Given the description of an element on the screen output the (x, y) to click on. 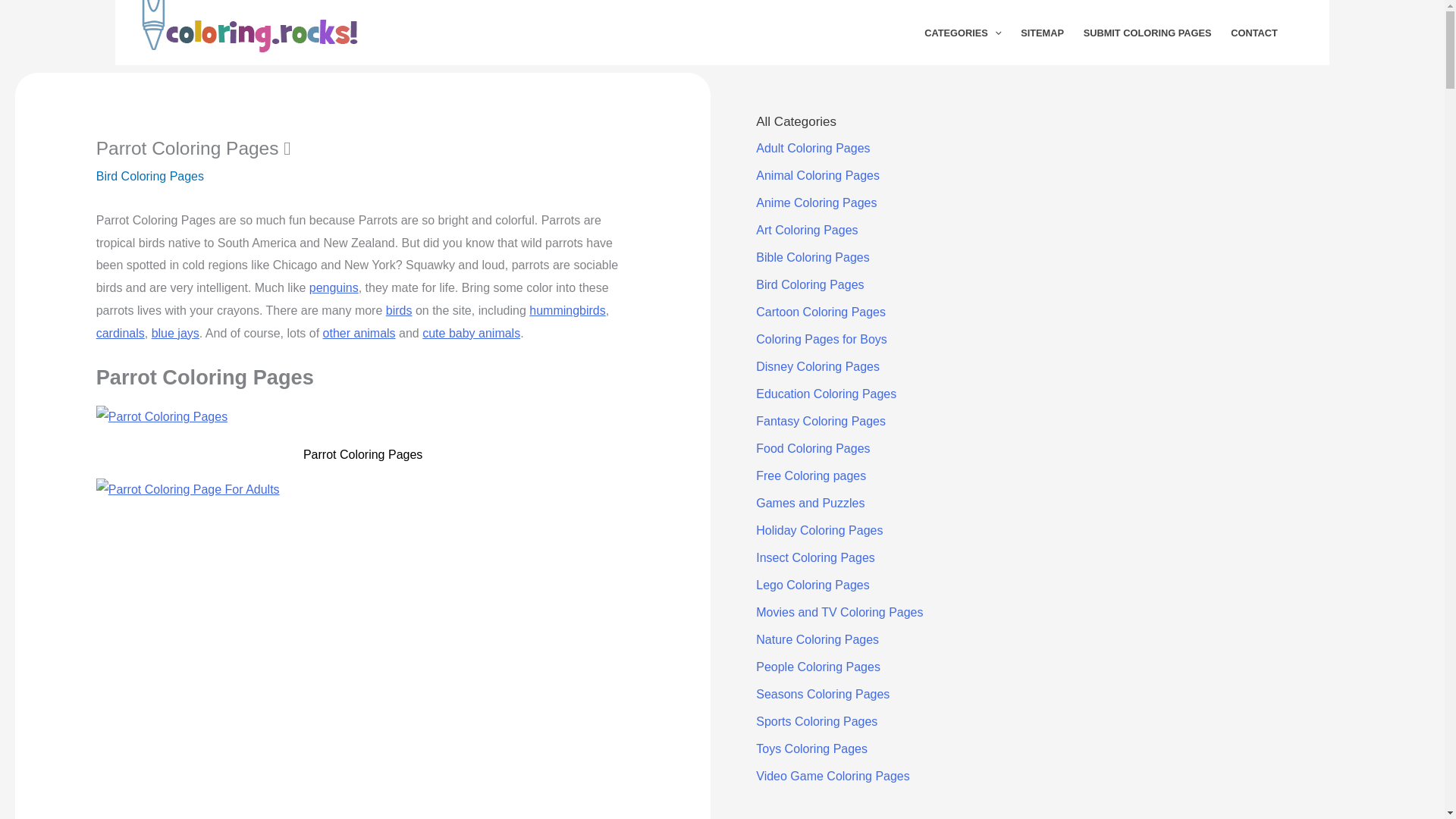
CATEGORIES (962, 32)
SUBMIT COLORING PAGES (1147, 32)
SITEMAP (1041, 32)
CONTACT (1254, 32)
